Given the description of an element on the screen output the (x, y) to click on. 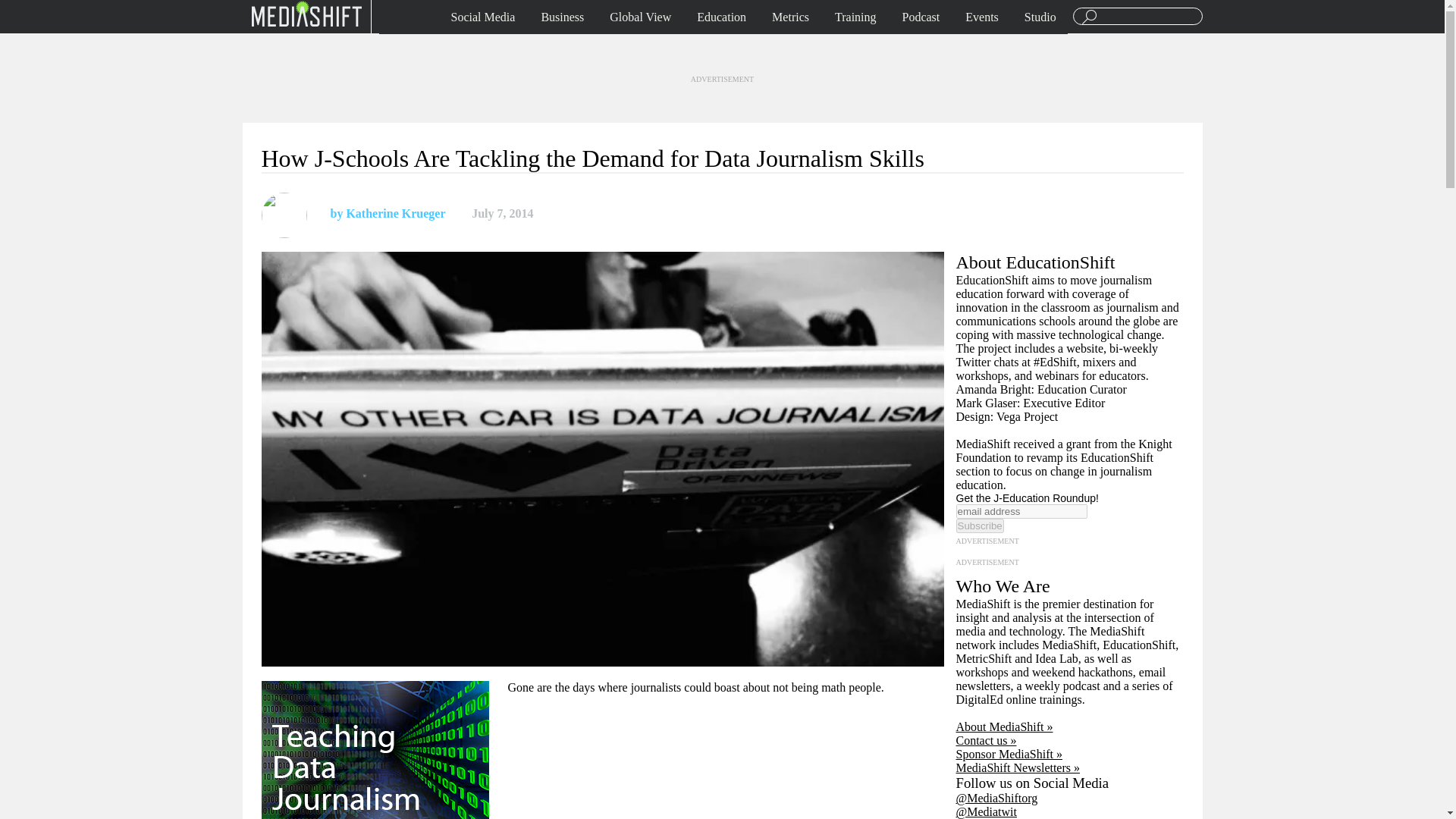
Events (981, 17)
Education (721, 17)
Podcast (921, 17)
Metrics (790, 17)
Business (562, 17)
Mediashift (305, 13)
Studio (1040, 17)
Share by Email (614, 213)
Training (856, 17)
Subscribe (979, 525)
Social Media (483, 17)
Global View (640, 17)
